Given the description of an element on the screen output the (x, y) to click on. 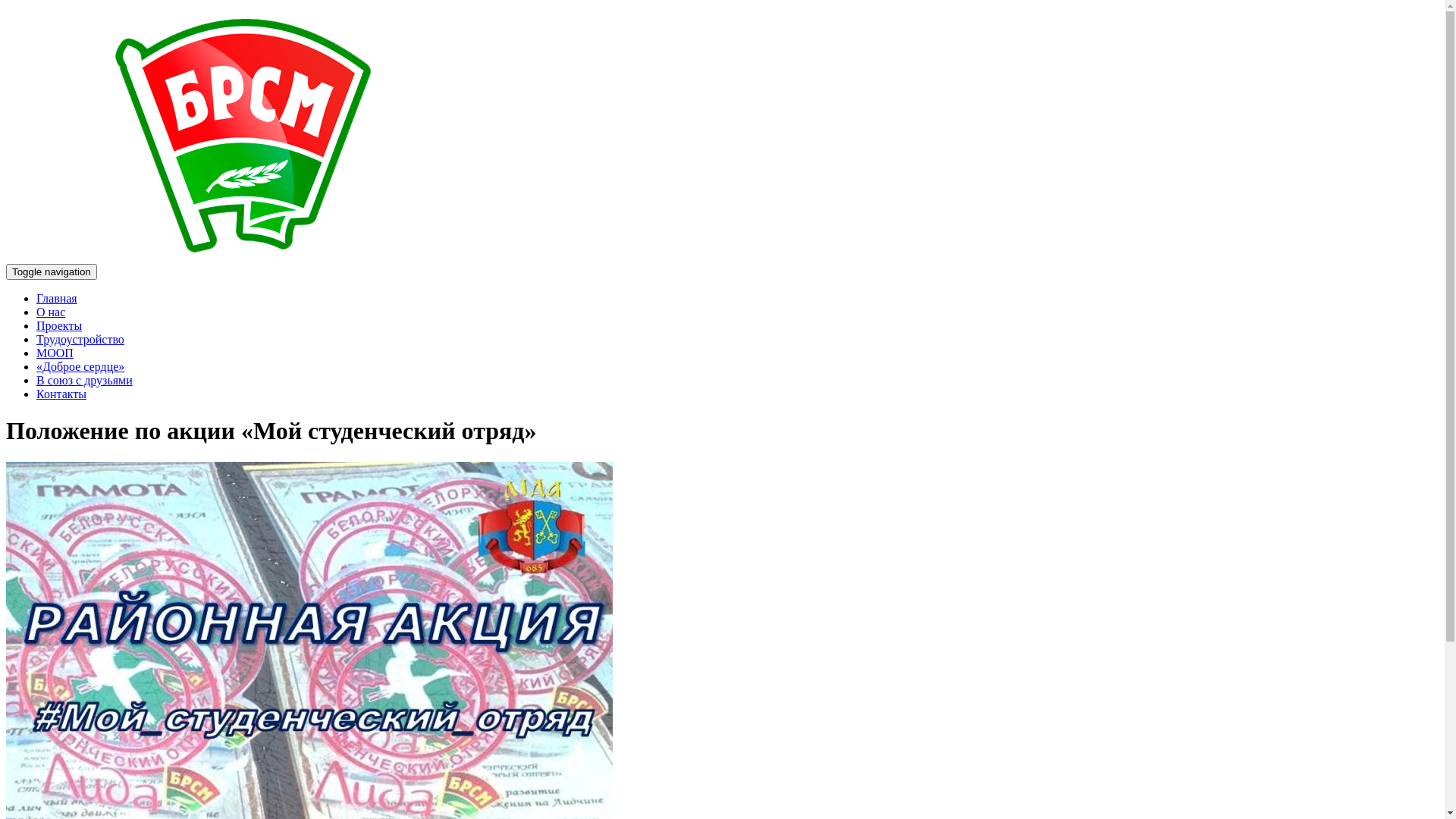
Toggle navigation Element type: text (51, 271)
